Given the description of an element on the screen output the (x, y) to click on. 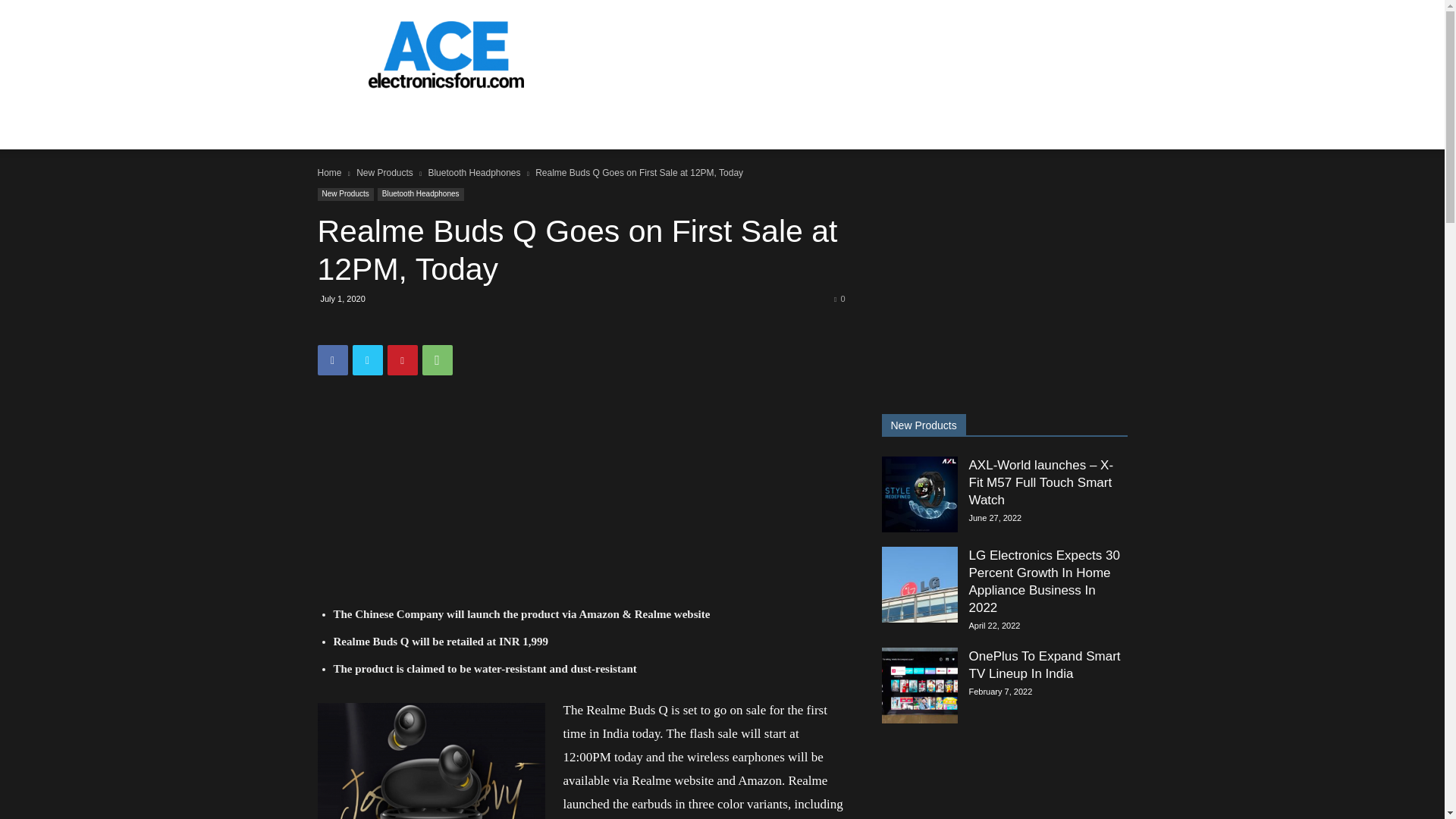
3rd party ad content (850, 55)
CHANNEL (360, 122)
